Given the description of an element on the screen output the (x, y) to click on. 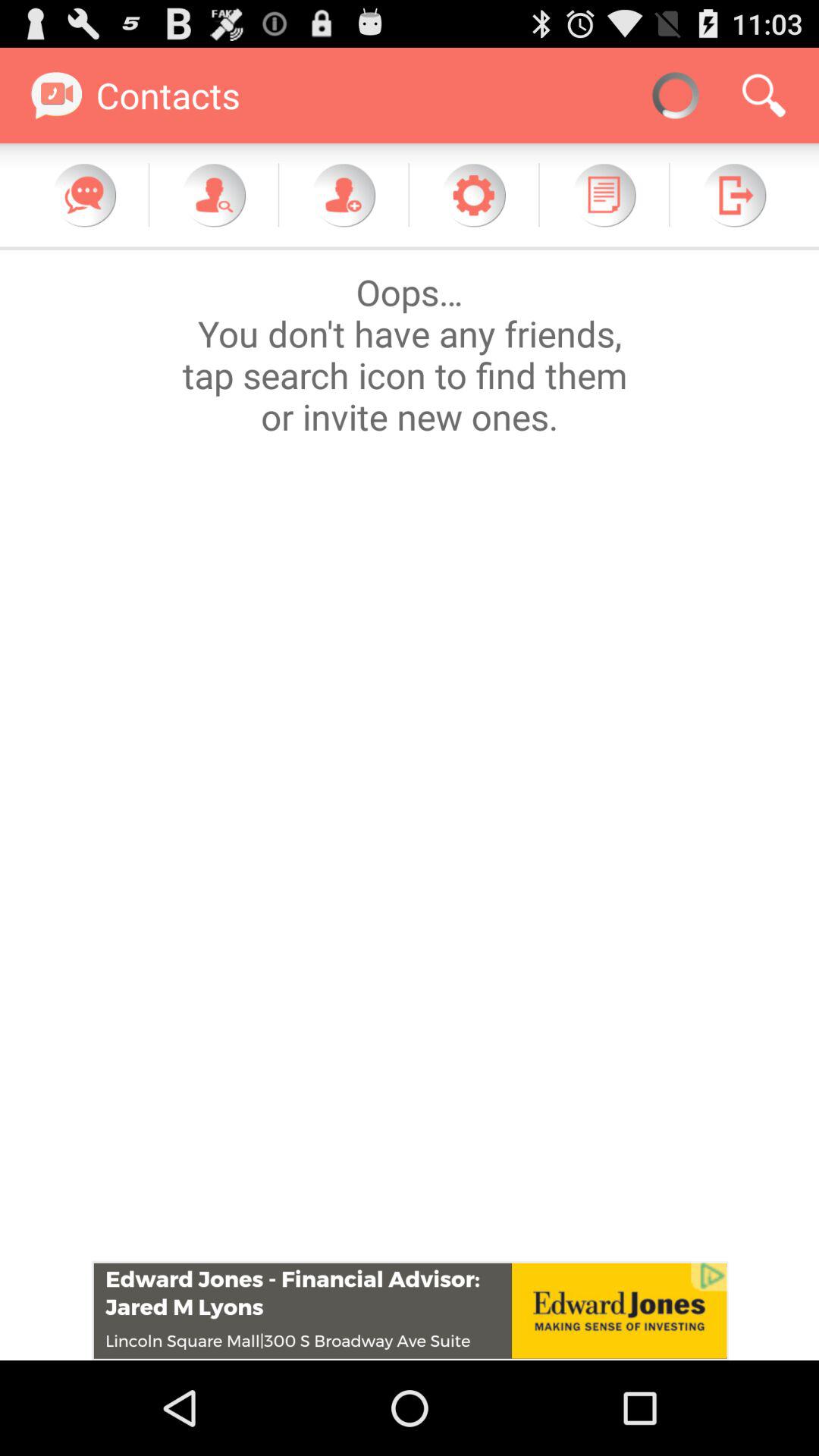
search friends (213, 194)
